Given the description of an element on the screen output the (x, y) to click on. 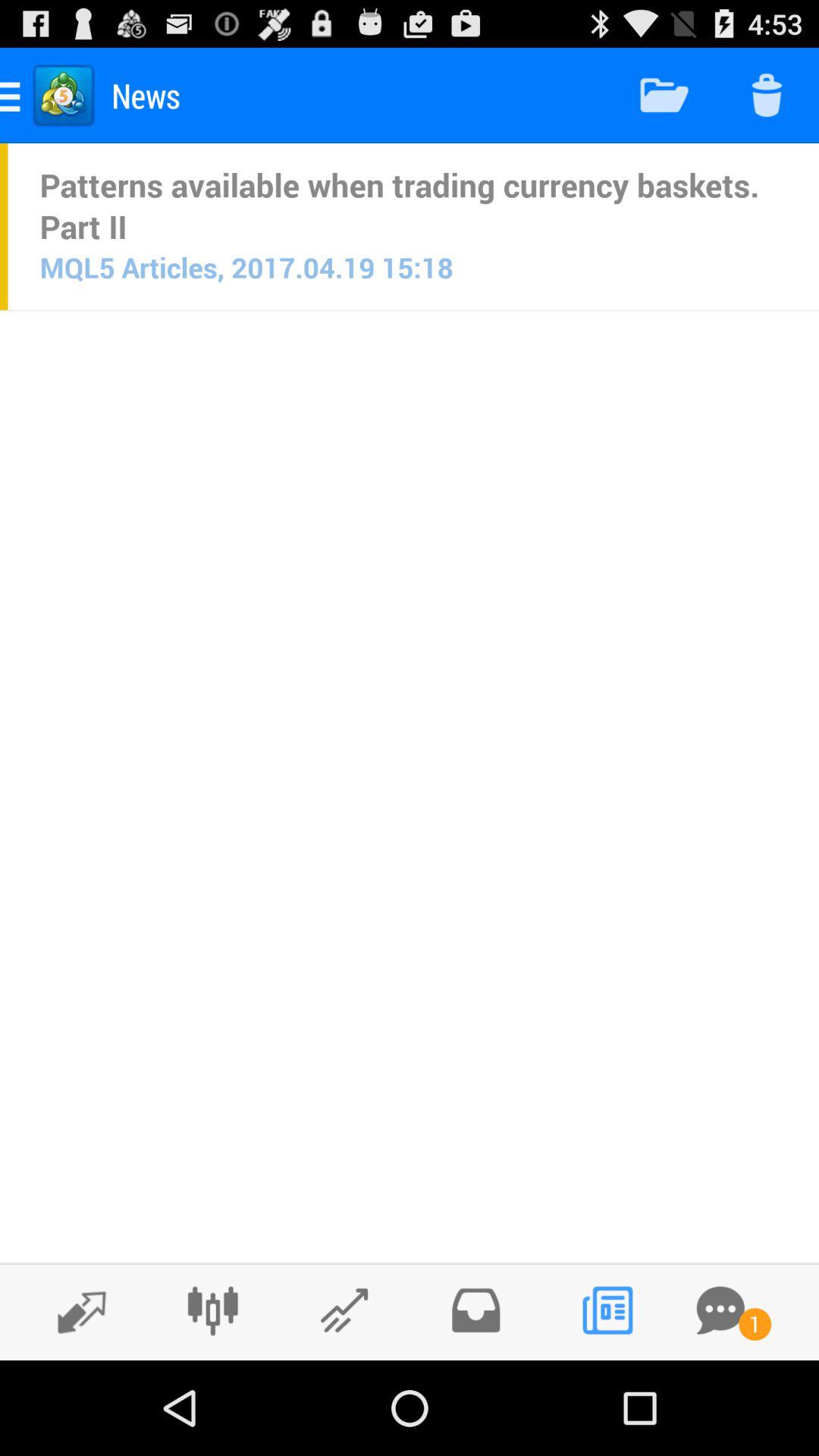
turn off item at the top (413, 205)
